Given the description of an element on the screen output the (x, y) to click on. 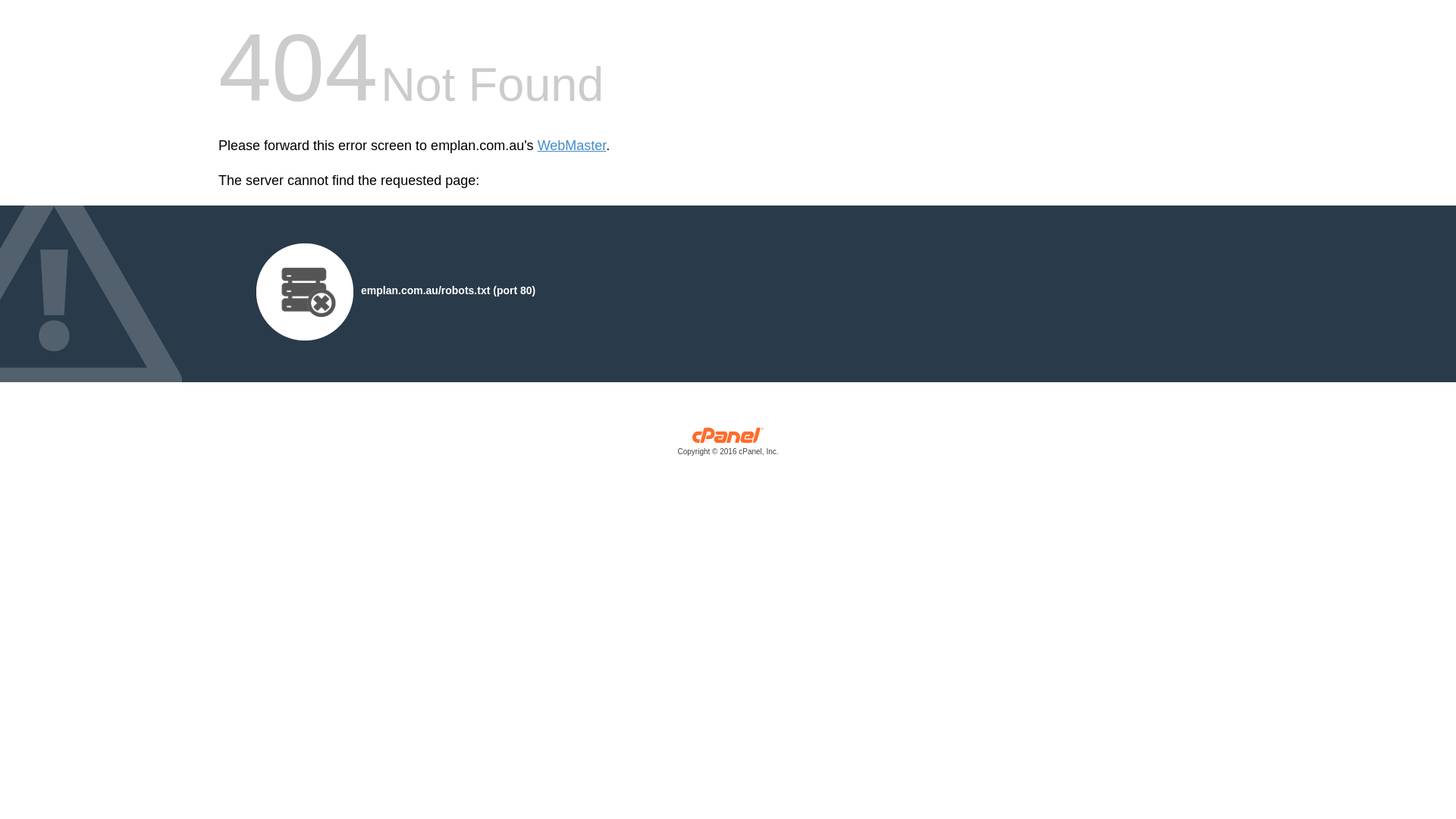
WebMaster Element type: text (571, 145)
